Given the description of an element on the screen output the (x, y) to click on. 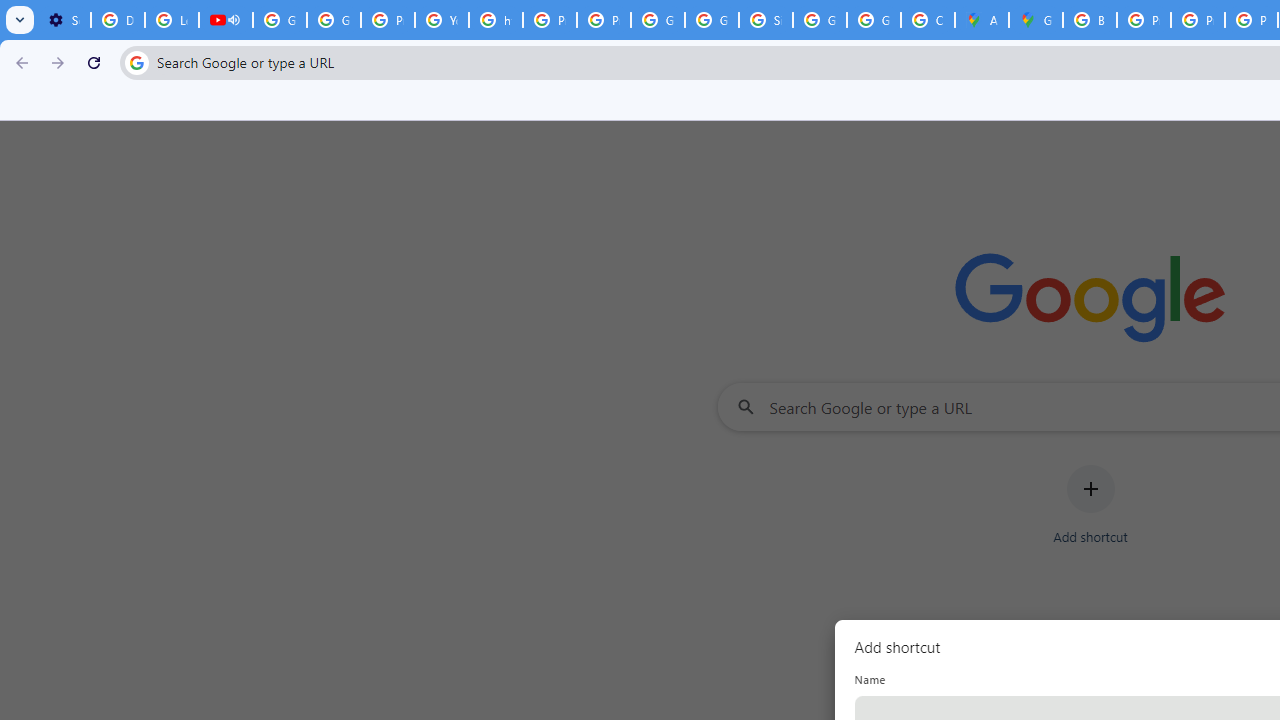
Create your Google Account (927, 20)
Mute tab (233, 20)
Google Account Help (333, 20)
Settings - Customize profile (63, 20)
Privacy Help Center - Policies Help (1144, 20)
Learn how to find your photos - Google Photos Help (171, 20)
https://scholar.google.com/ (495, 20)
Privacy Help Center - Policies Help (550, 20)
